Given the description of an element on the screen output the (x, y) to click on. 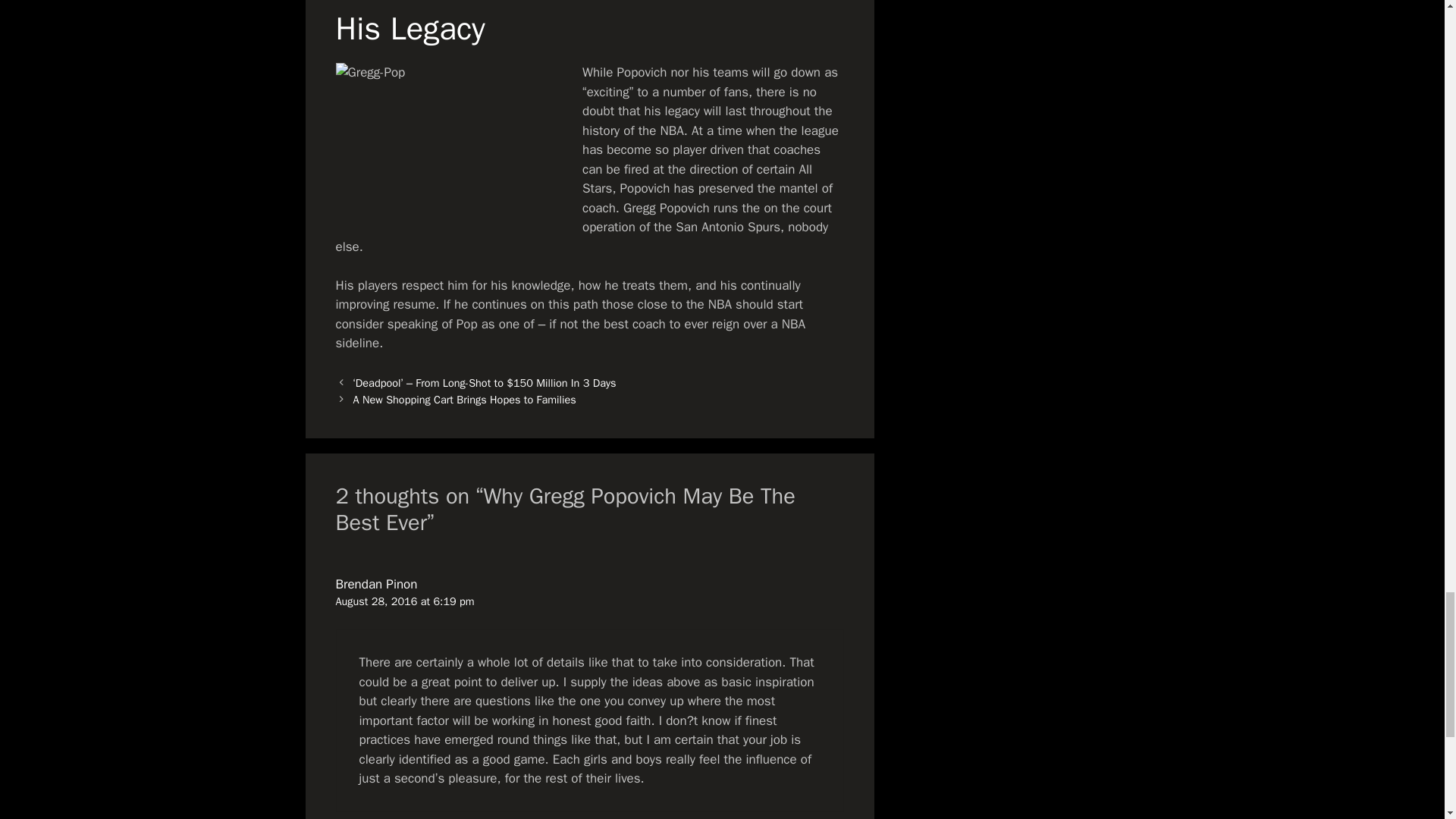
A New Shopping Cart Brings Hopes to Families (464, 399)
Brendan Pinon (375, 584)
August 28, 2016 at 6:19 pm (404, 601)
